Given the description of an element on the screen output the (x, y) to click on. 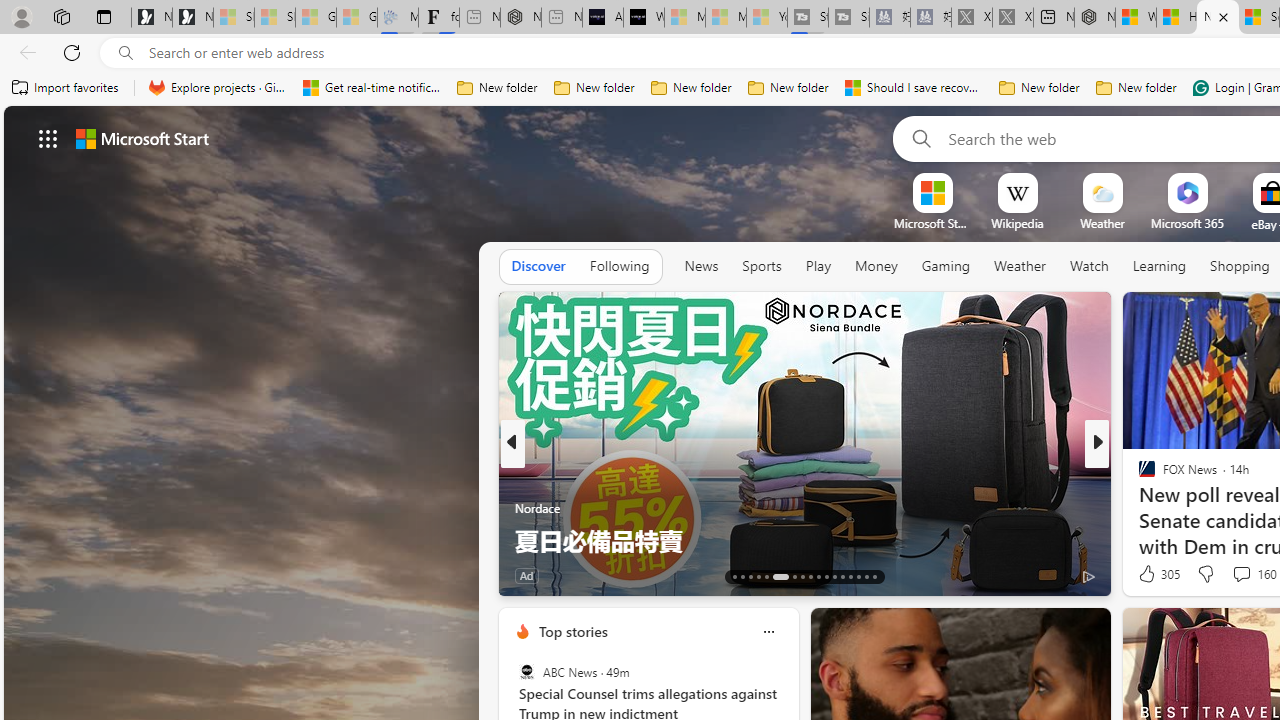
View comments 107 Comment (1234, 575)
Microsoft Start Sports - Sleeping (684, 17)
New tab - Sleeping (561, 17)
Washington Examiner (1138, 475)
Newsletter Sign Up (192, 17)
News (701, 265)
157 Like (1151, 574)
Watch (1089, 265)
Tom's Guide (1138, 507)
Microsoft 365 (1186, 223)
305 Like (1157, 574)
View comments 5 Comment (1234, 574)
